Given the description of an element on the screen output the (x, y) to click on. 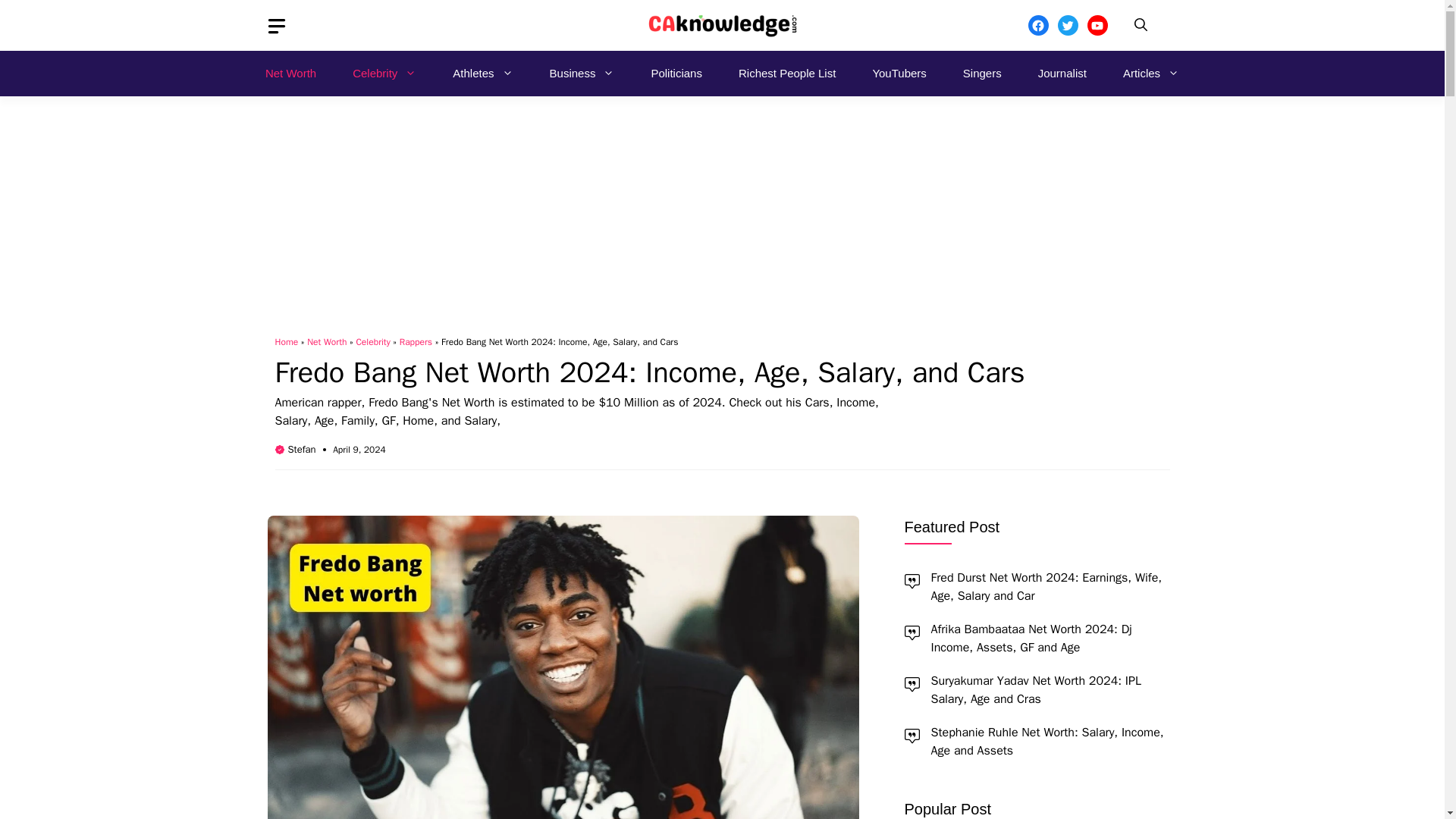
Athletes (482, 73)
Celebrity (383, 73)
Facebook (1037, 25)
Twitter (1067, 25)
Net Worth (290, 73)
YouTube (1097, 25)
Politicians (675, 73)
Business (582, 73)
